Given the description of an element on the screen output the (x, y) to click on. 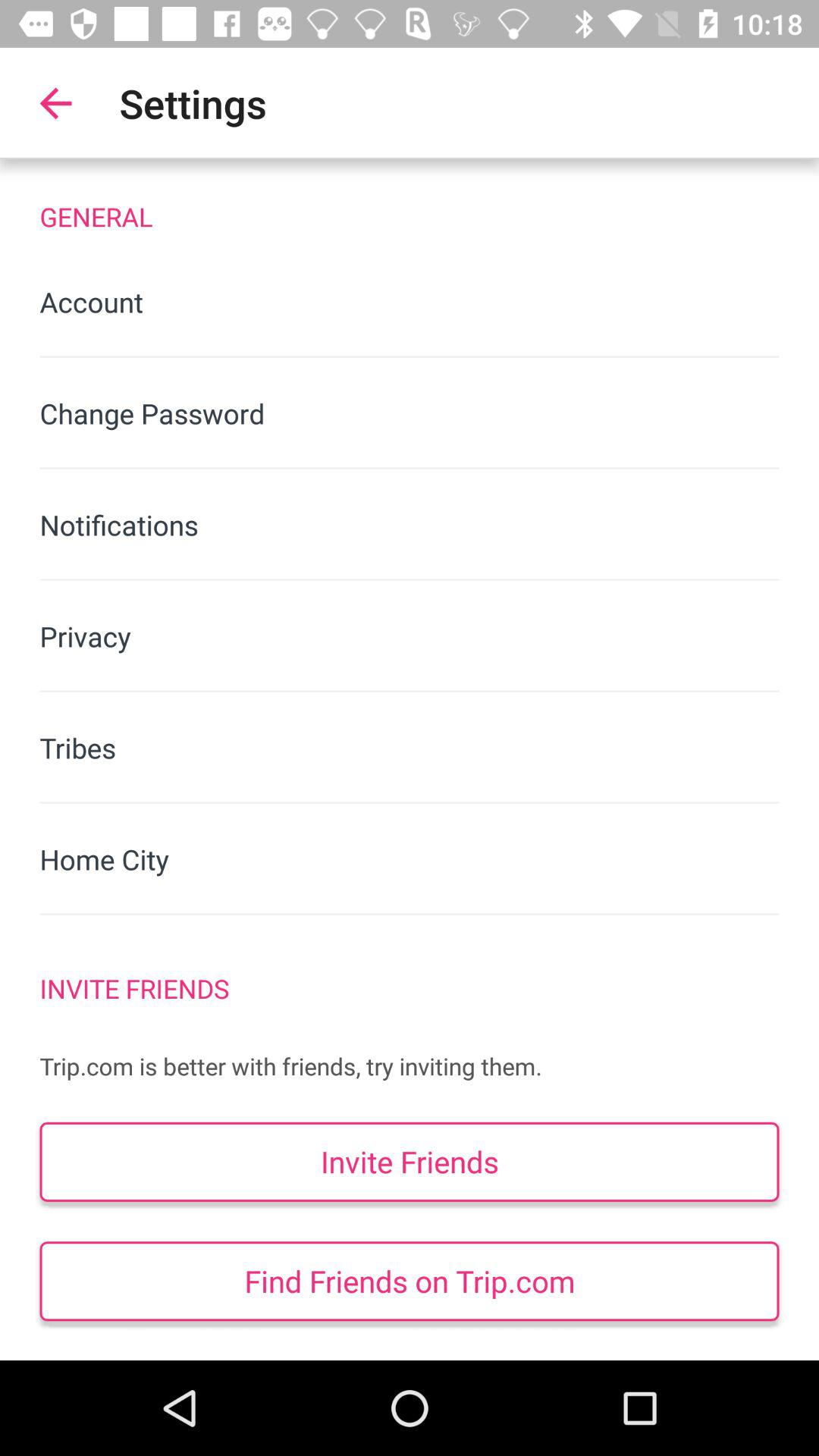
choose the icon above general item (55, 103)
